Given the description of an element on the screen output the (x, y) to click on. 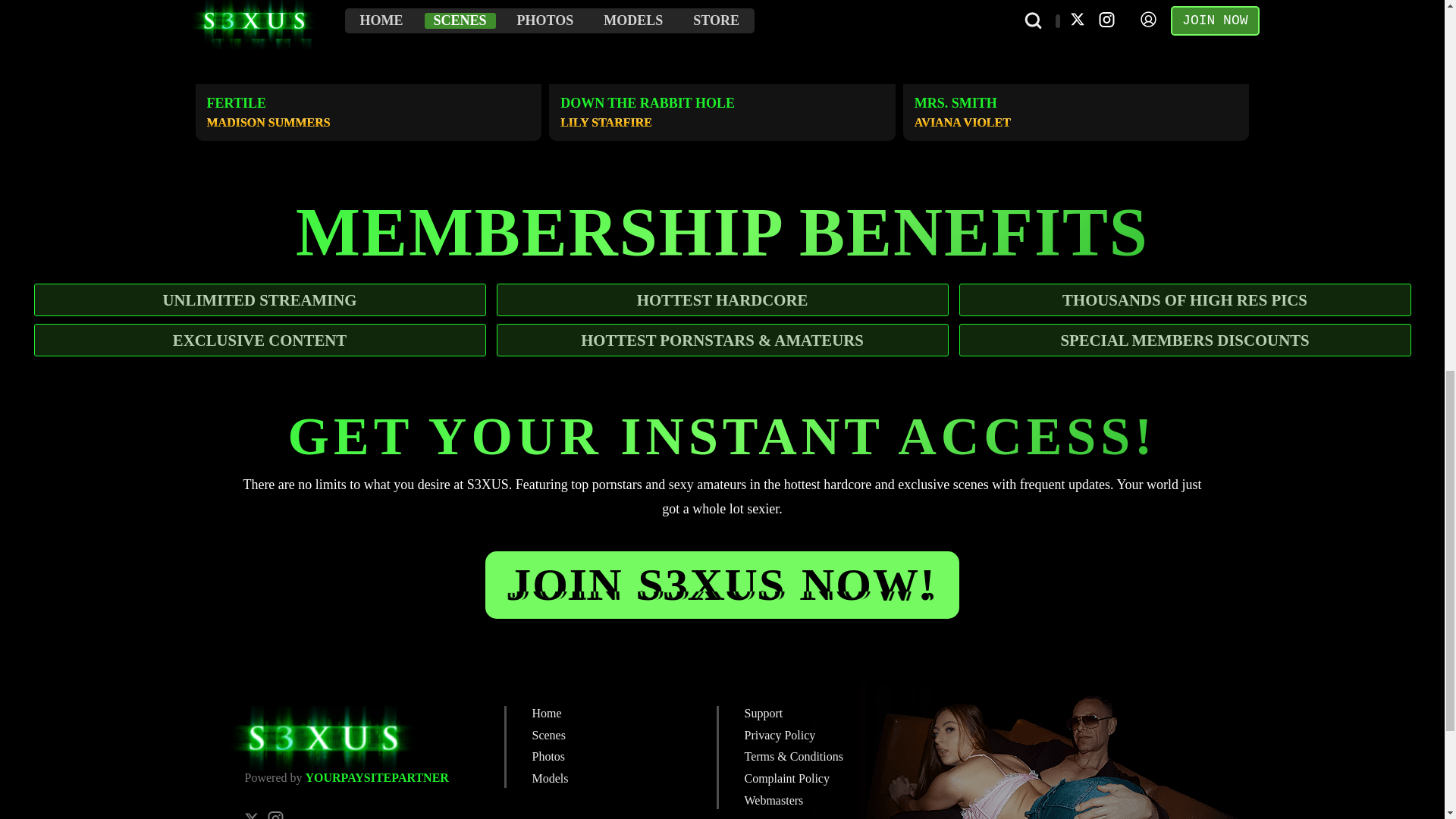
DOWN THE RABBIT HOLE (647, 102)
MRS. SMITH (955, 102)
Home (547, 712)
Photos (549, 756)
Models (550, 778)
Scenes (549, 735)
FERTILE (236, 102)
AVIANA VIOLET (962, 122)
LILY STARFIRE (606, 122)
